Given the description of an element on the screen output the (x, y) to click on. 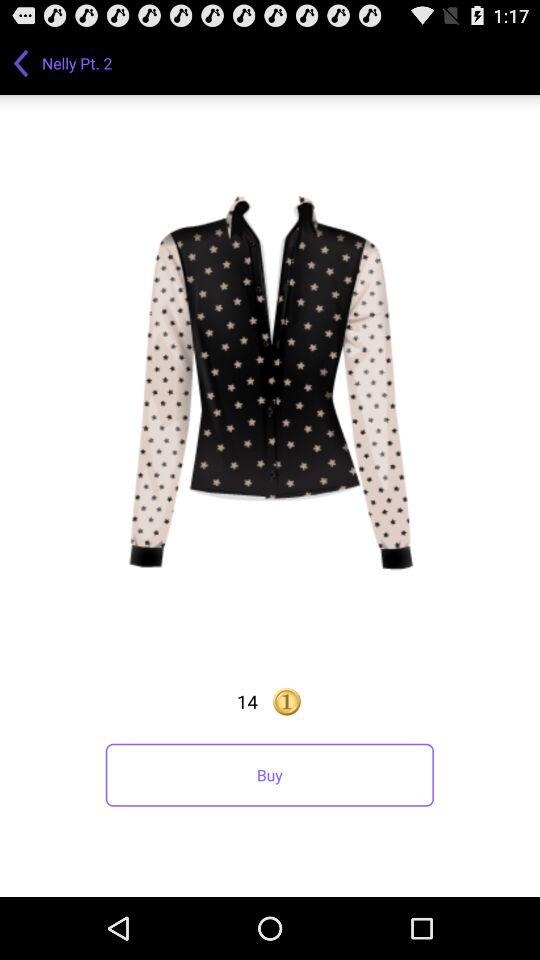
flip to the nelly pt. 2 (79, 62)
